Given the description of an element on the screen output the (x, y) to click on. 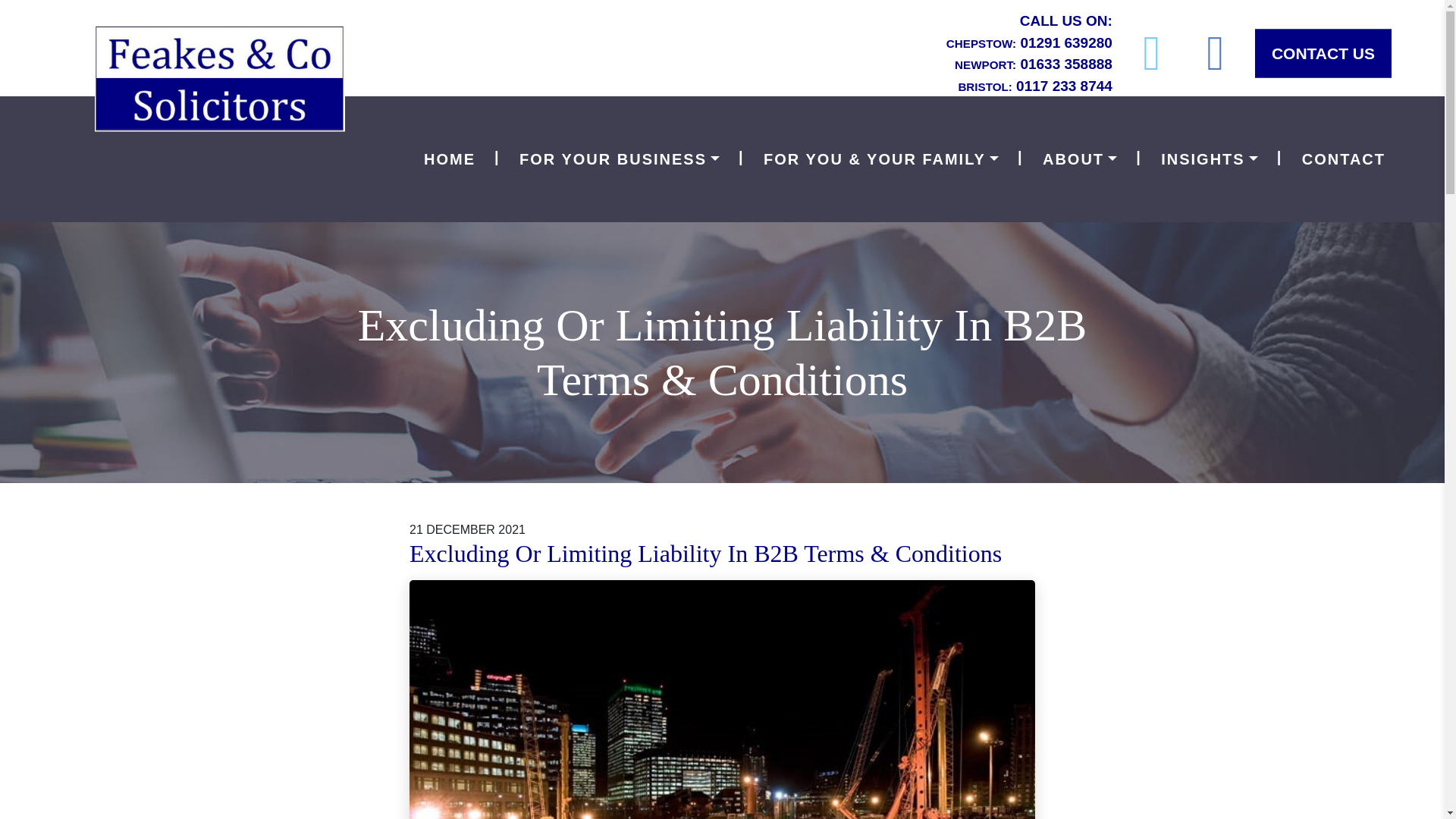
01291 639280 (1066, 41)
01633 358888 (1066, 64)
HOME (449, 158)
Home (449, 158)
CONTACT US (1323, 53)
0117 233 8744 (1064, 84)
For Your Business (619, 158)
FOR YOUR BUSINESS (619, 158)
